Given the description of an element on the screen output the (x, y) to click on. 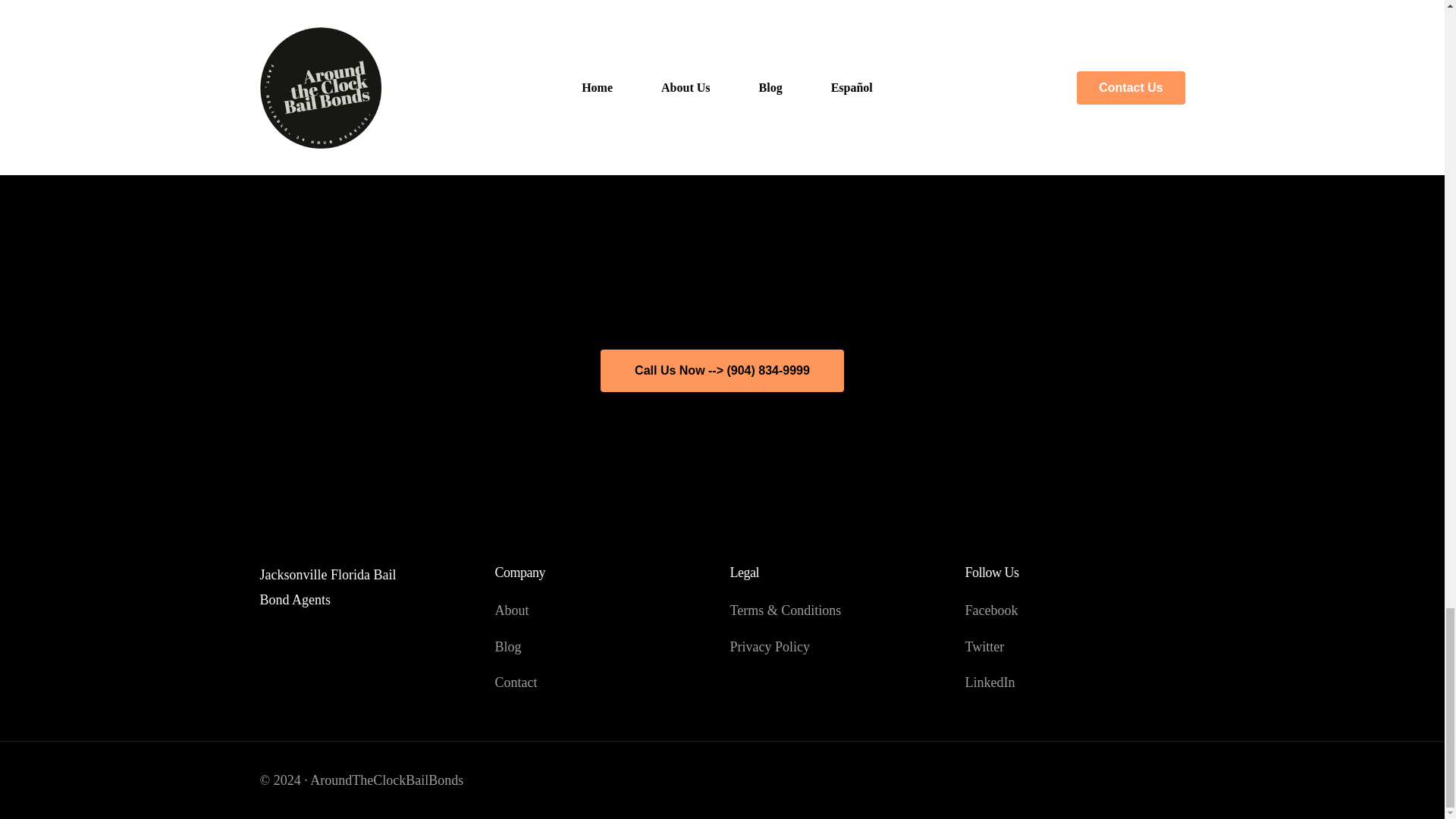
Facebook (1074, 610)
LinkedIn (1074, 682)
Twitter (1074, 646)
About (604, 610)
Privacy Policy (839, 646)
Contact (604, 682)
Blog (604, 646)
